Given the description of an element on the screen output the (x, y) to click on. 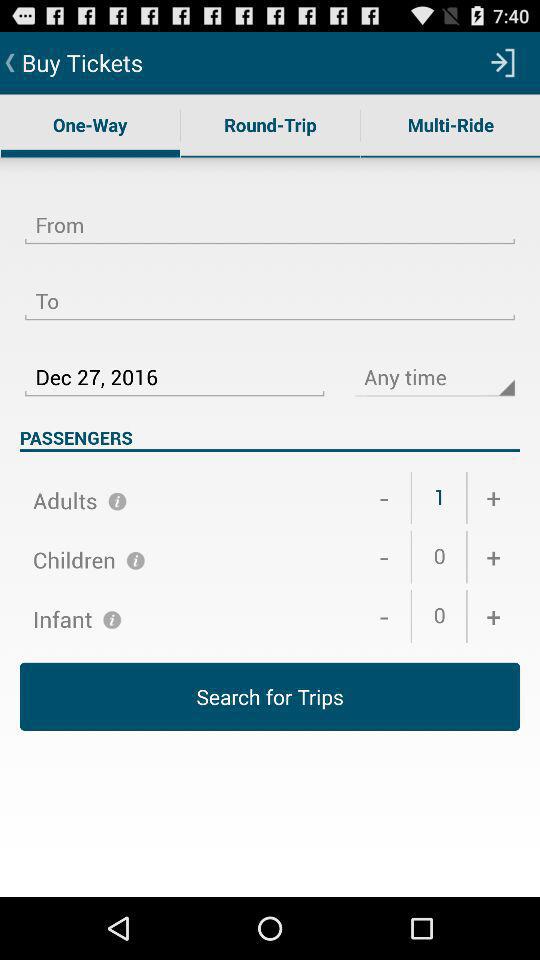
click the item below the passengers icon (384, 497)
